Given the description of an element on the screen output the (x, y) to click on. 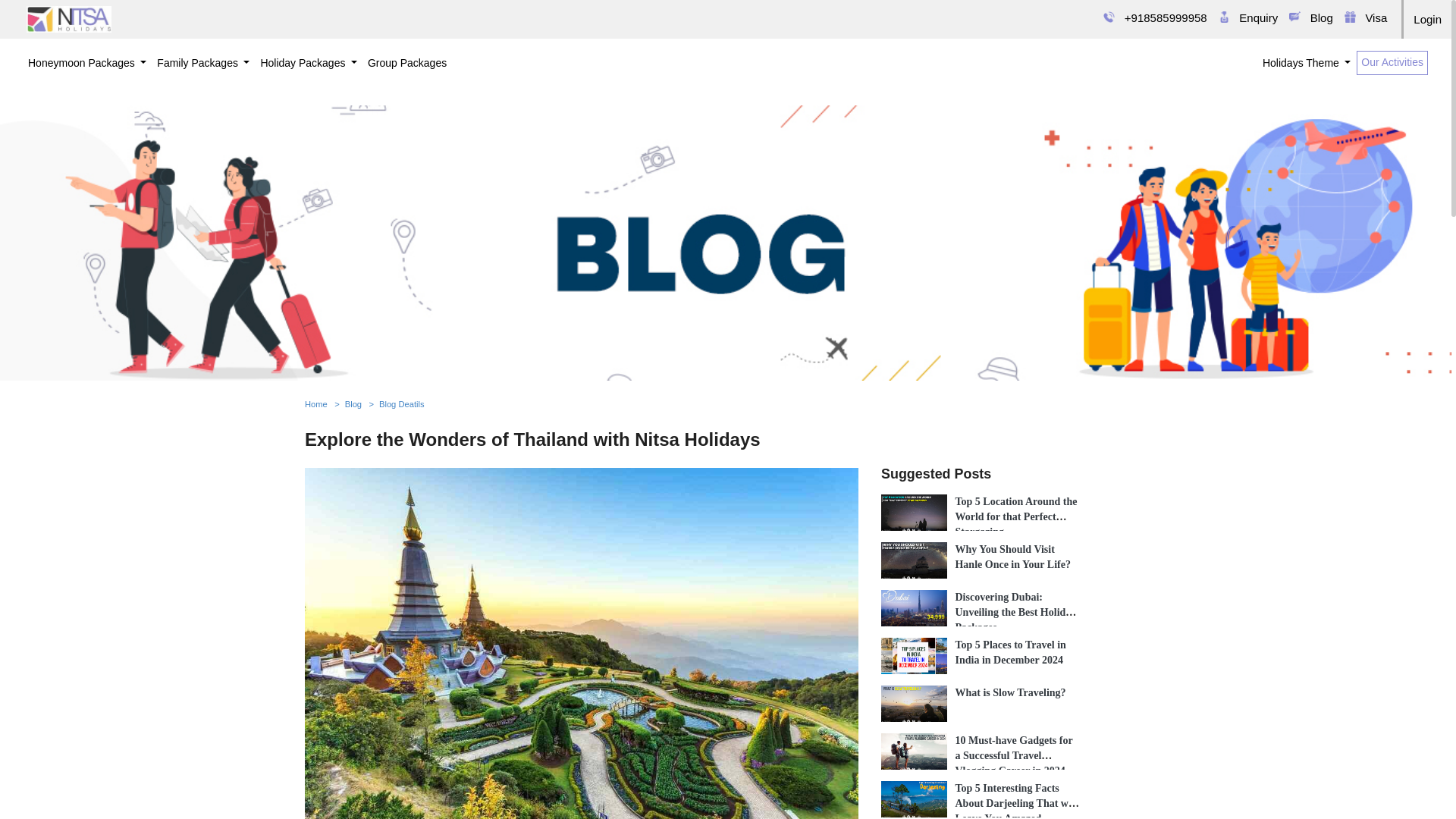
Family Packages (202, 63)
Visa (1383, 25)
Honeymoon Packages (87, 63)
Blog (1329, 27)
Login (1428, 21)
Enquiry (1273, 29)
Holiday Packages (308, 63)
